Given the description of an element on the screen output the (x, y) to click on. 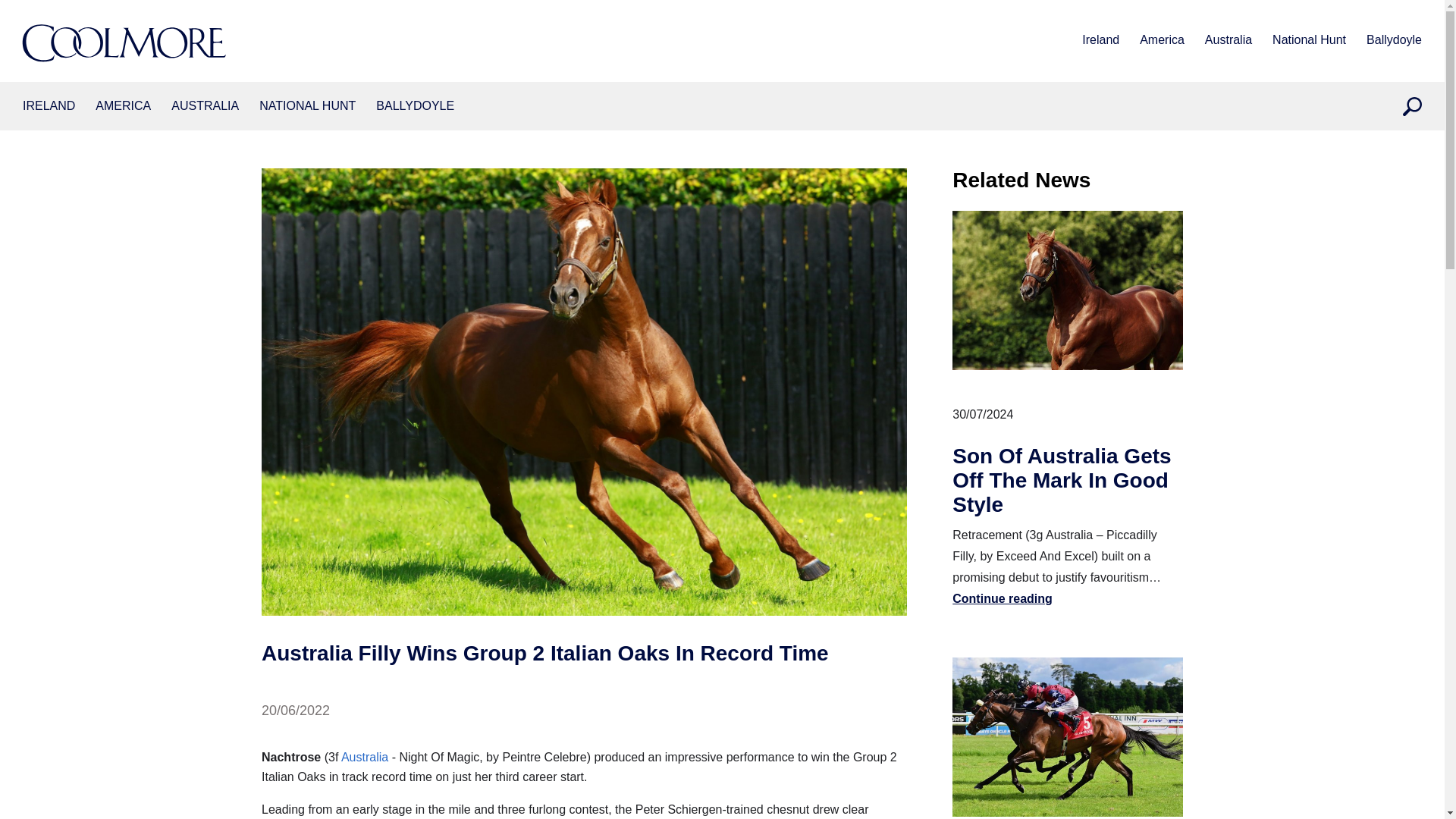
National Hunt (307, 106)
Ireland (1100, 40)
National Hunt (1308, 40)
Australia (204, 106)
AMERICA (123, 106)
America (123, 106)
Ballydoyle (1394, 40)
AUSTRALIA (204, 106)
icon-magCreated with Sketch. (1412, 106)
Ireland (49, 106)
Ballydoyle (414, 106)
NATIONAL HUNT (307, 106)
Australia (364, 757)
BALLYDOYLE (414, 106)
Australia (1228, 40)
